Given the description of an element on the screen output the (x, y) to click on. 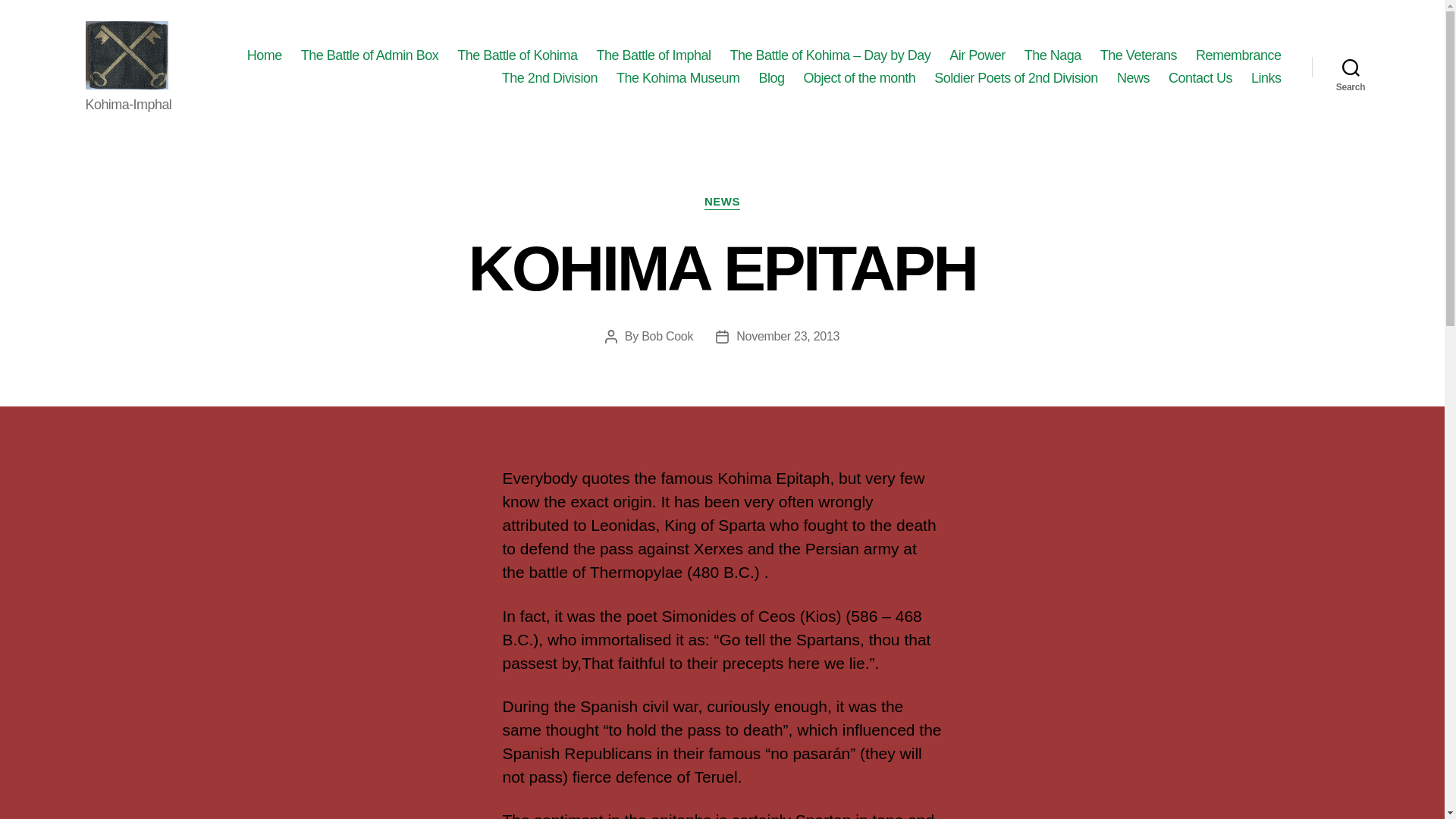
The Naga (1053, 55)
Soldier Poets of 2nd Division (1015, 77)
Blog (771, 77)
Object of the month (859, 77)
The Battle of Admin Box (370, 55)
Air Power (977, 55)
Home (264, 55)
Search (1350, 66)
The Kohima Museum (677, 77)
The Battle of Kohima (516, 55)
The Battle of Imphal (652, 55)
News (1133, 77)
Remembrance (1238, 55)
Contact Us (1200, 77)
The Veterans (1138, 55)
